Given the description of an element on the screen output the (x, y) to click on. 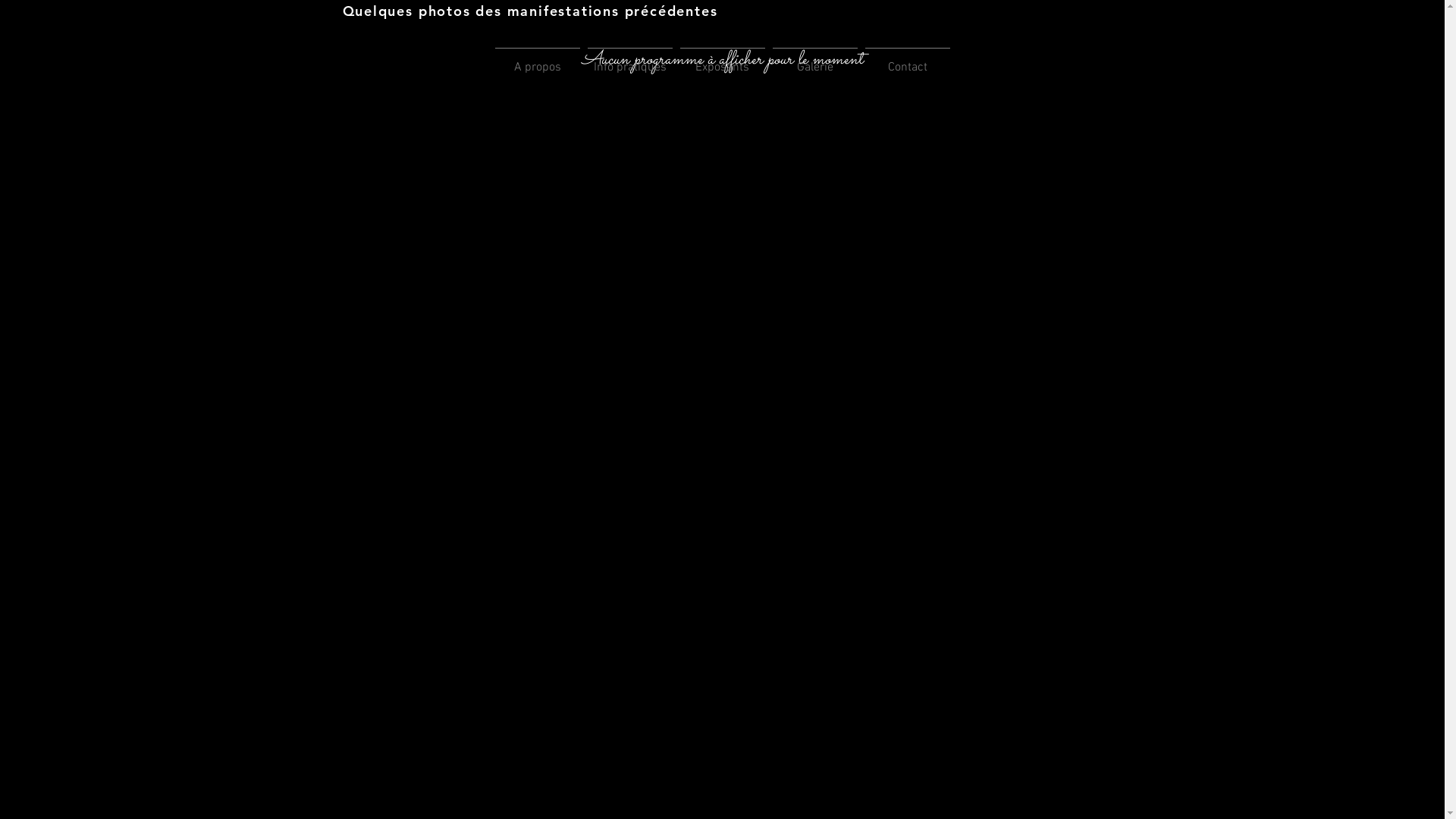
A propos Element type: text (537, 60)
Galerie Element type: text (814, 60)
Exposants Element type: text (722, 60)
Contact Element type: text (907, 60)
Info pratiques Element type: text (629, 60)
